Given the description of an element on the screen output the (x, y) to click on. 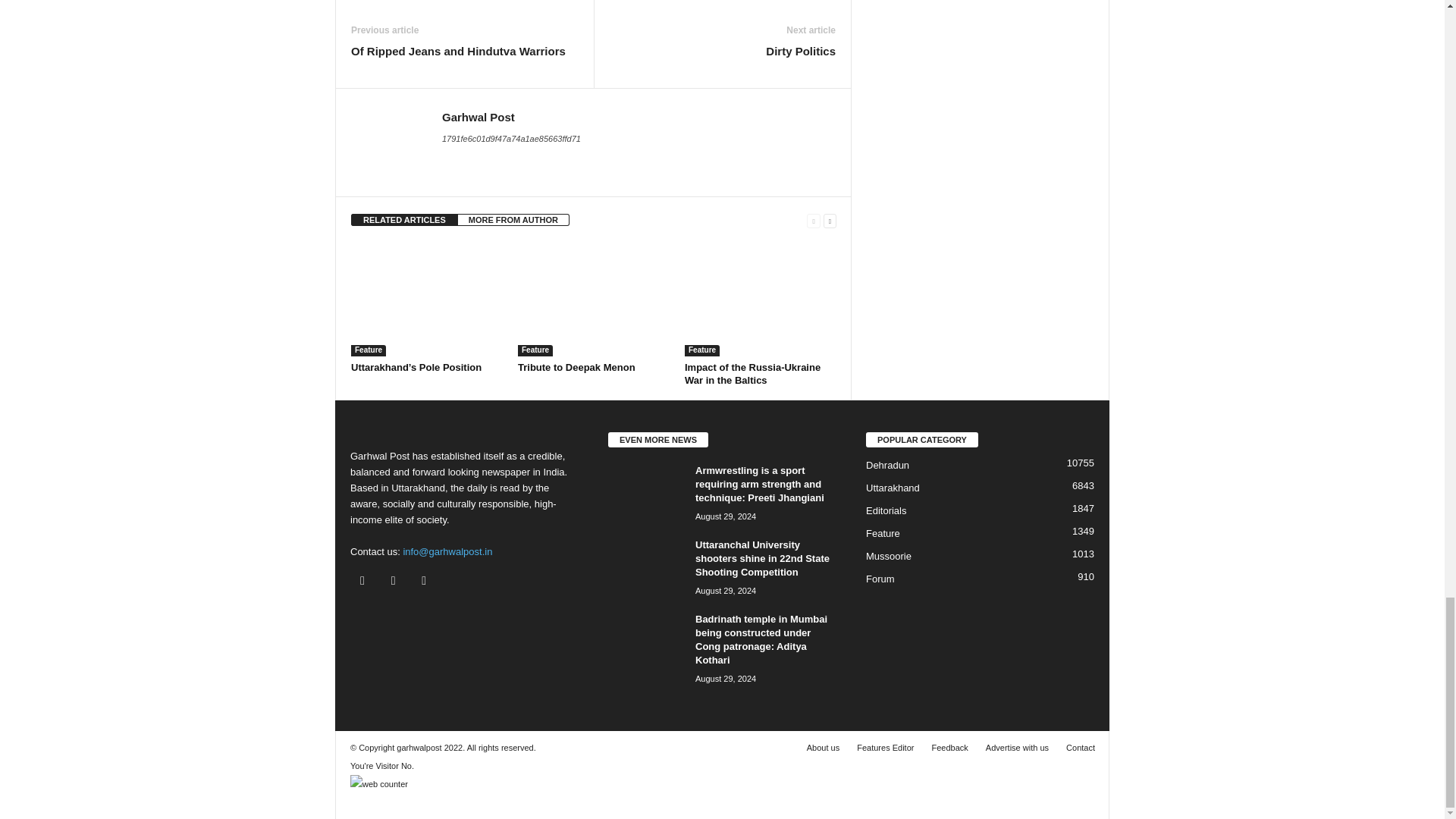
Tribute to Deepak Menon (576, 367)
Tribute to Deepak Menon (593, 299)
Impact of the Russia-Ukraine War in the Baltics (752, 373)
Impact of the Russia-Ukraine War in the Baltics (759, 299)
